Given the description of an element on the screen output the (x, y) to click on. 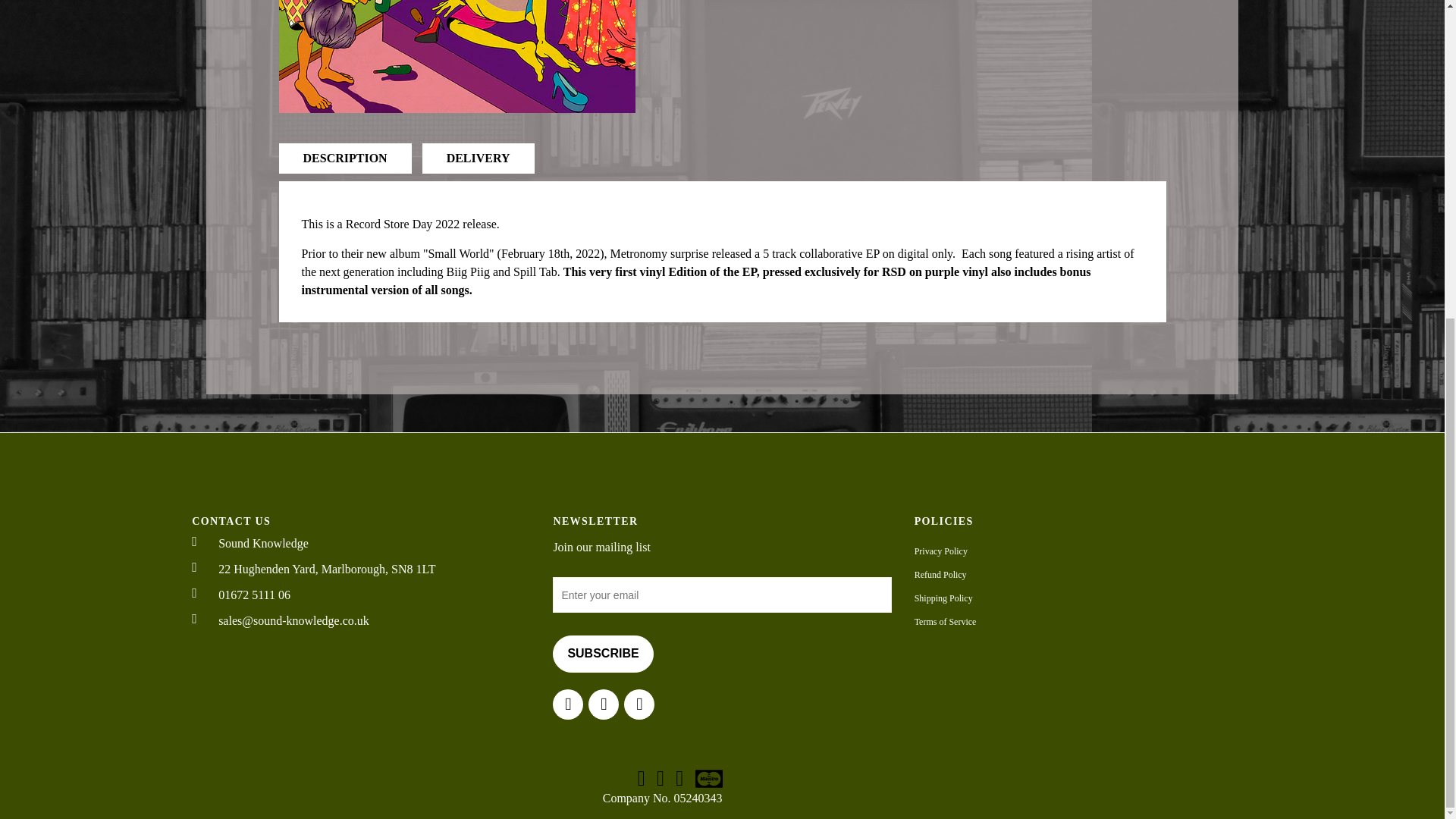
SUBSCRIBE (602, 653)
01672 5111 06 (360, 595)
